Given the description of an element on the screen output the (x, y) to click on. 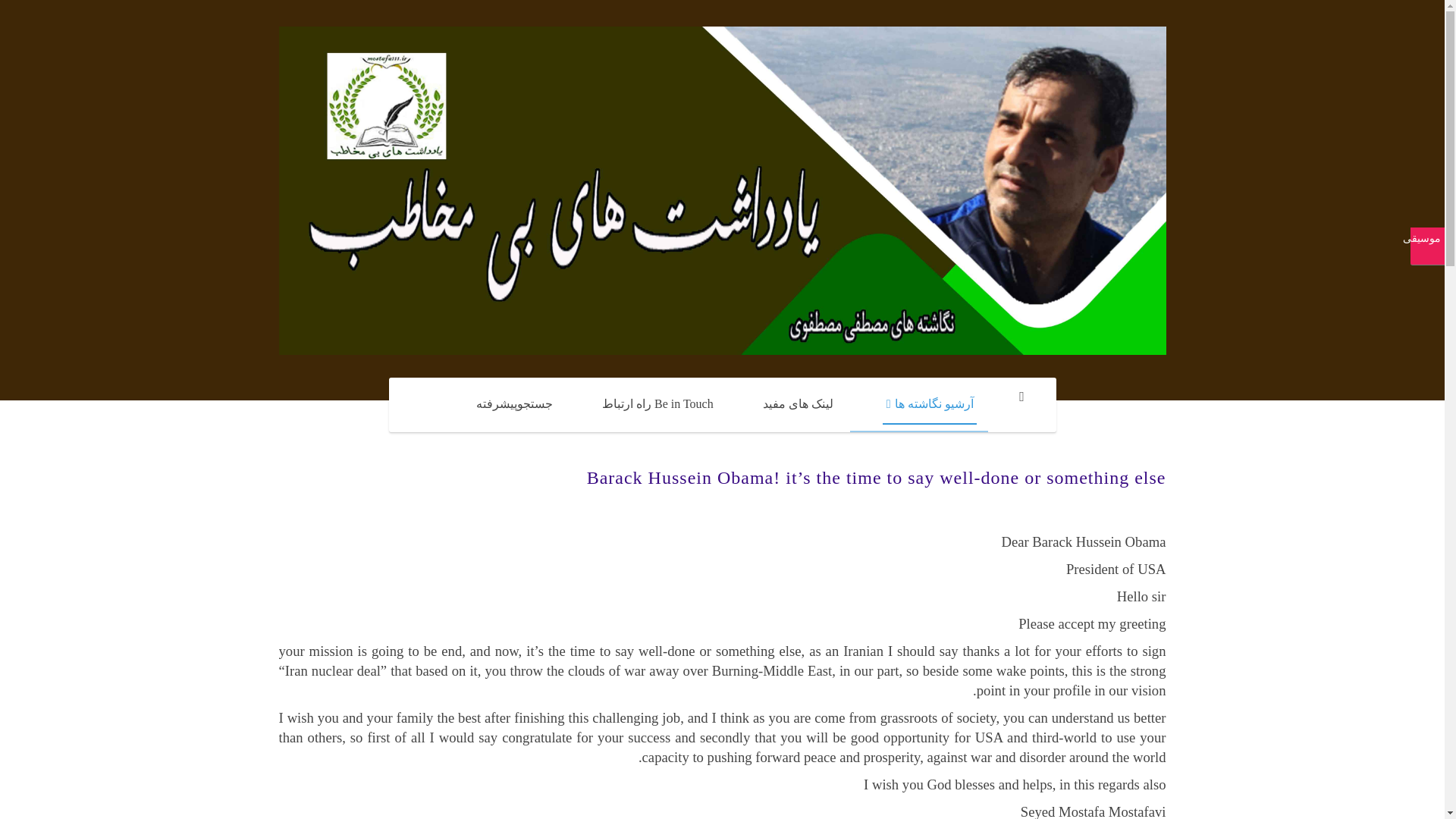
. (1021, 396)
